Given the description of an element on the screen output the (x, y) to click on. 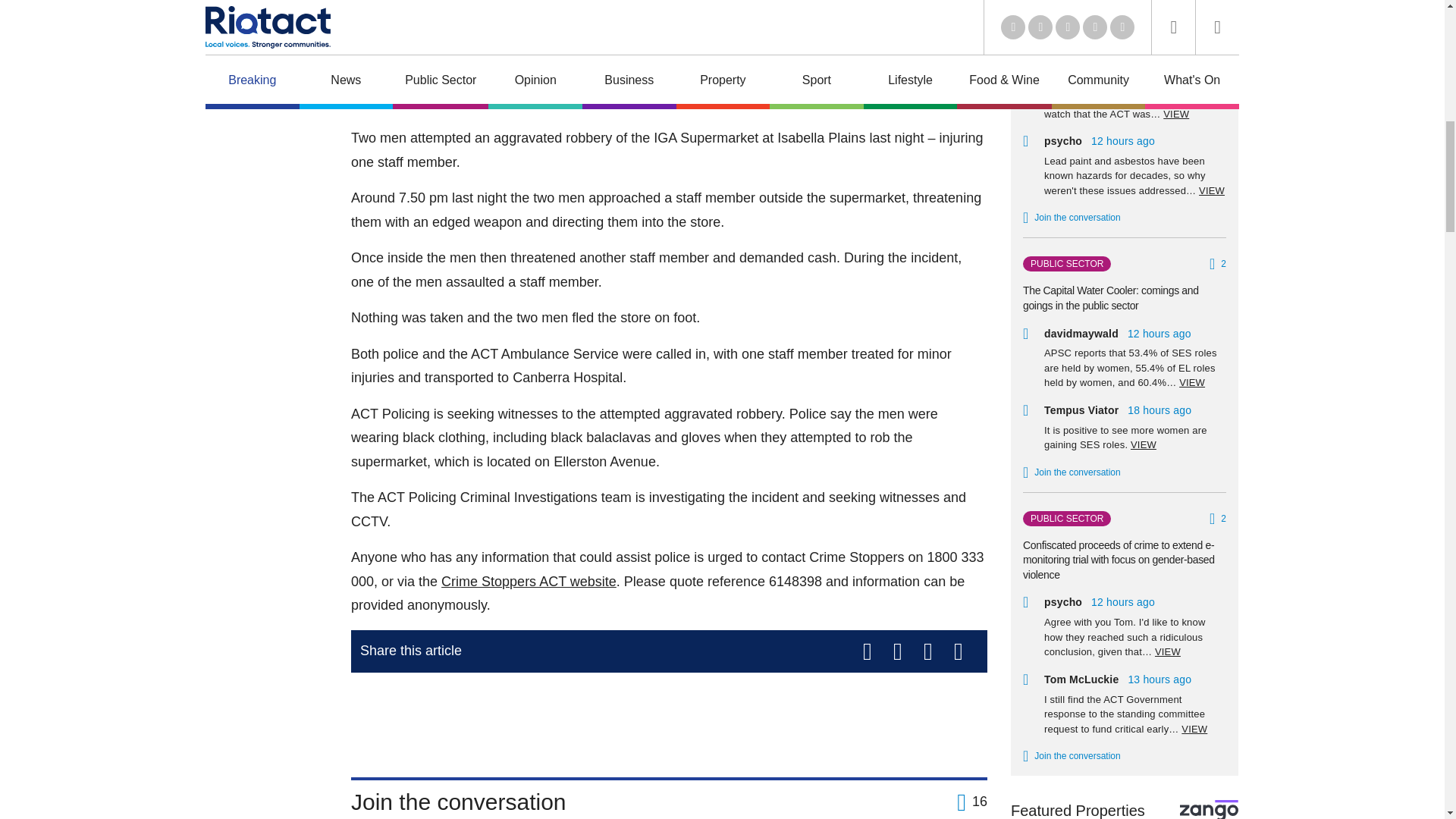
3rd party ad content (668, 718)
Zango (1209, 809)
